Given the description of an element on the screen output the (x, y) to click on. 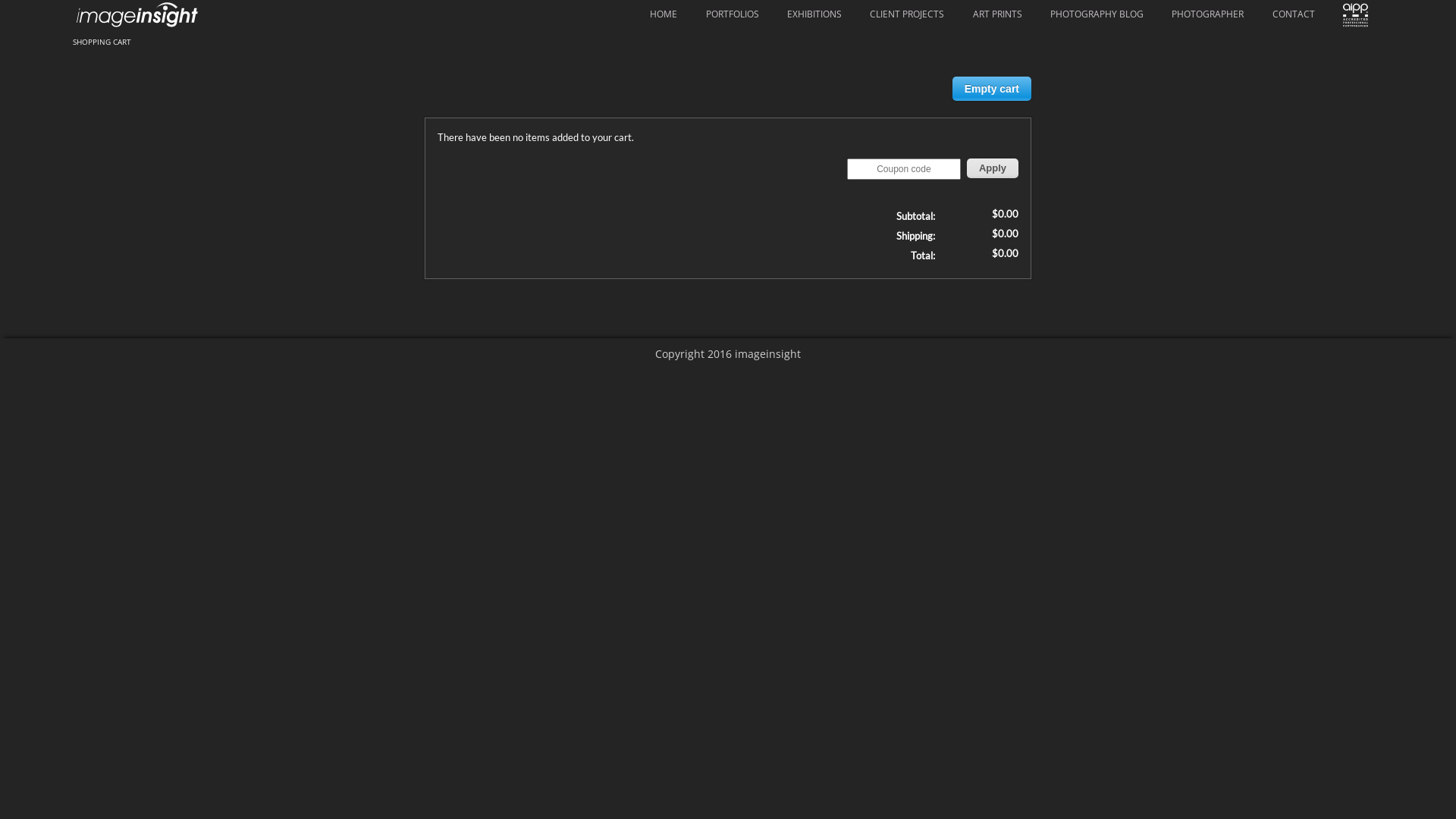
Empty cart Element type: text (991, 88)
PORTFOLIOS Element type: text (732, 14)
PHOTOGRAPHY BLOG Element type: text (1096, 14)
EXHIBITIONS Element type: text (814, 14)
Imageinsight Element type: hover (138, 14)
HOME Element type: text (663, 14)
ART PRINTS Element type: text (997, 14)
PHOTOGRAPHER Element type: text (1207, 14)
CONTACT Element type: text (1293, 14)
CLIENT PROJECTS Element type: text (906, 14)
Apply Element type: text (992, 168)
